Given the description of an element on the screen output the (x, y) to click on. 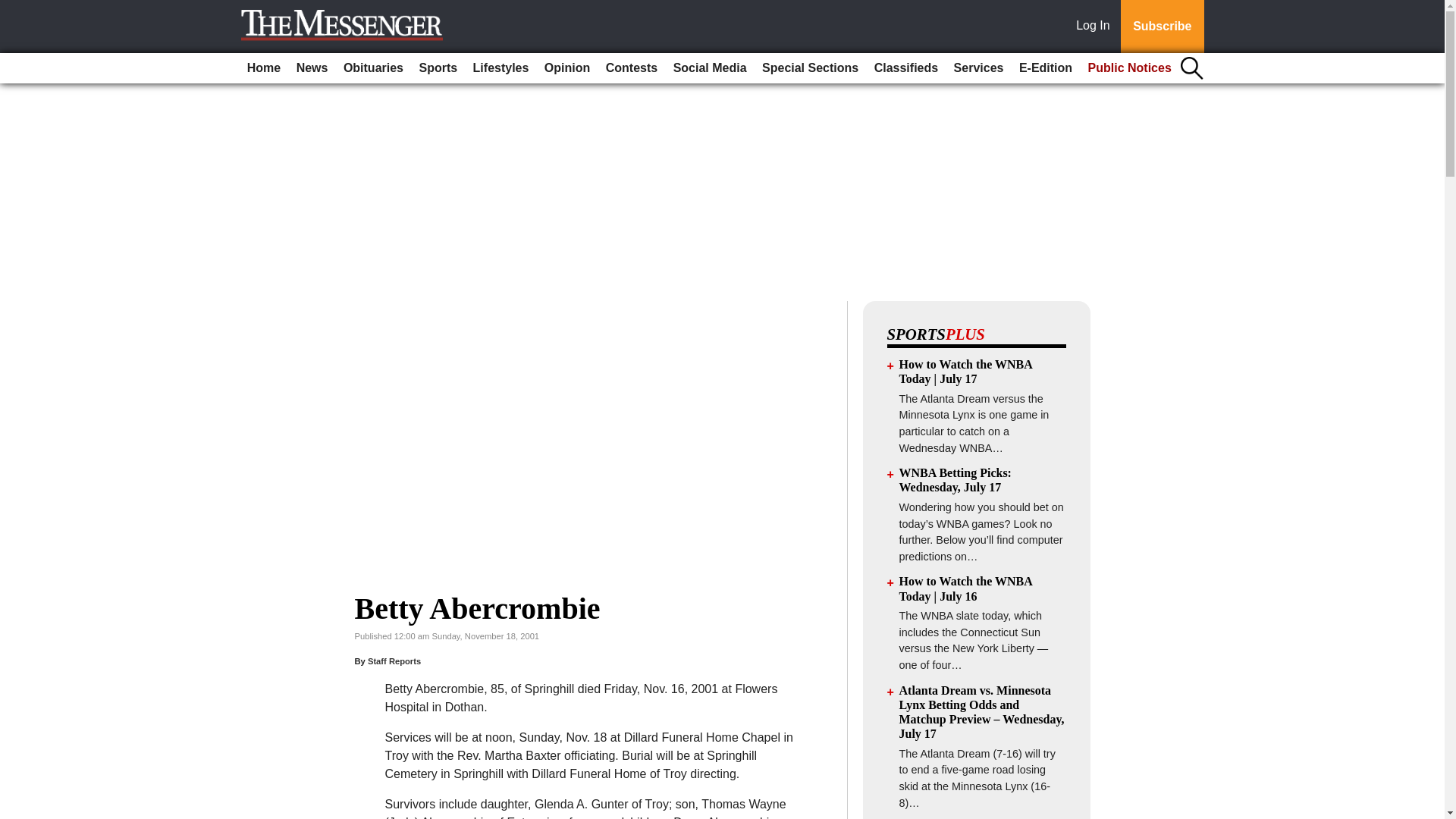
Opinion (566, 68)
Sports (437, 68)
News (311, 68)
E-Edition (1045, 68)
Services (978, 68)
Log In (1095, 26)
Classifieds (905, 68)
Lifestyles (501, 68)
Social Media (709, 68)
Contests (631, 68)
Special Sections (809, 68)
Obituaries (373, 68)
Home (263, 68)
Subscribe (1162, 26)
